Given the description of an element on the screen output the (x, y) to click on. 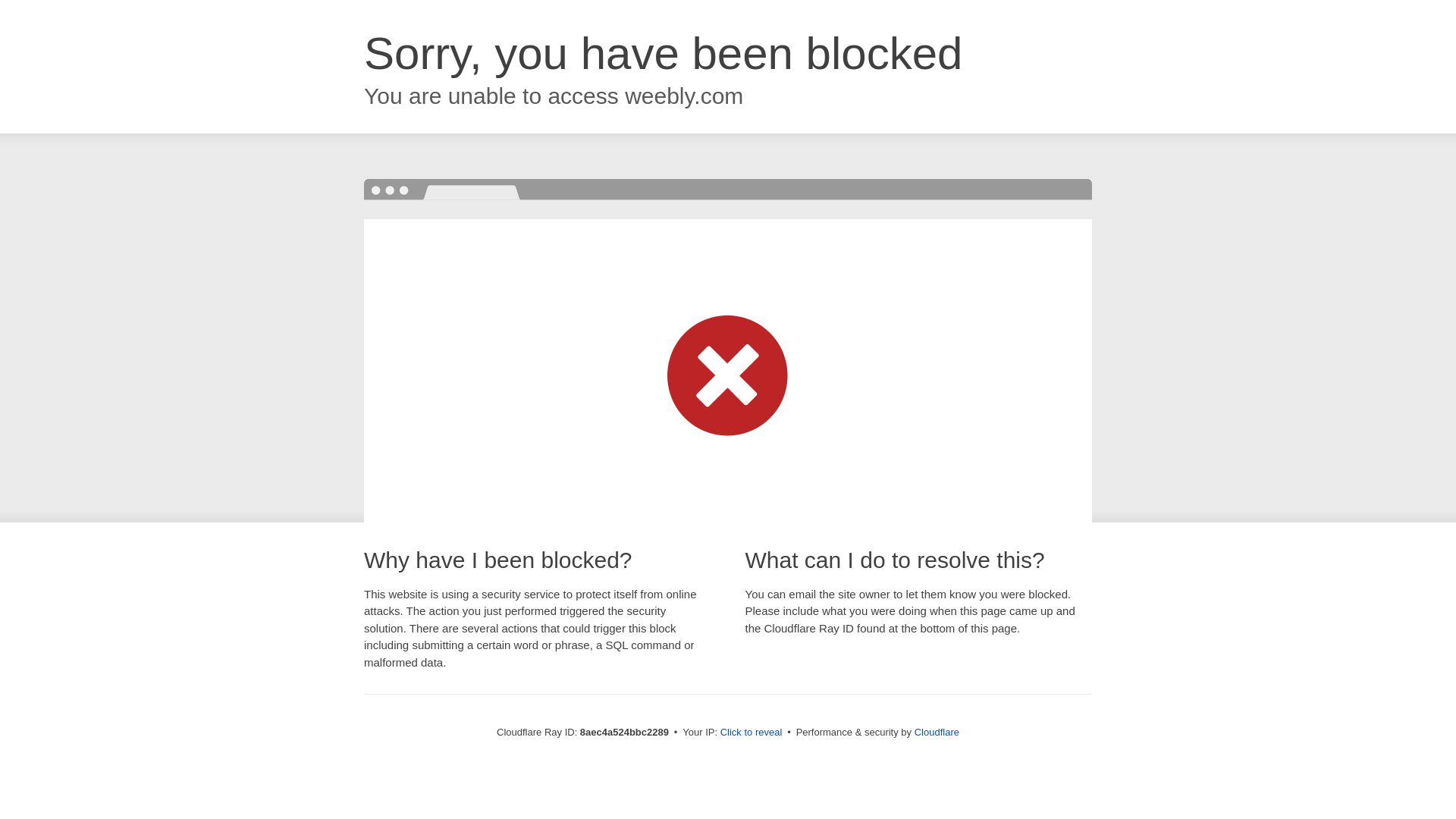
Click to reveal (751, 732)
Cloudflare (936, 731)
